Given the description of an element on the screen output the (x, y) to click on. 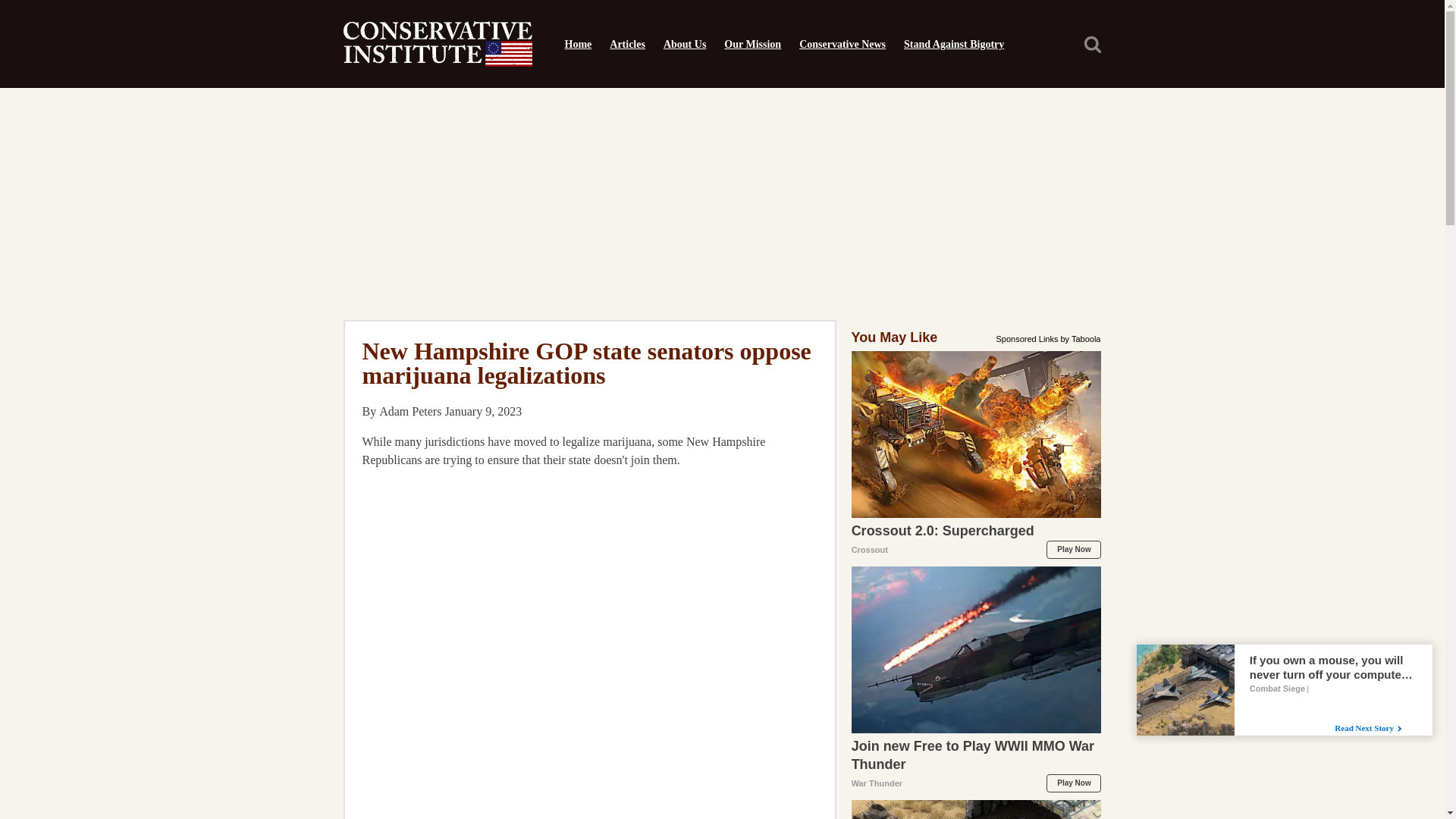
Stand Against Bigotry (954, 44)
Our Mission (752, 44)
Conservative News (842, 44)
Adam Peters (409, 410)
Articles (626, 44)
About Us (683, 44)
Home (576, 44)
